Given the description of an element on the screen output the (x, y) to click on. 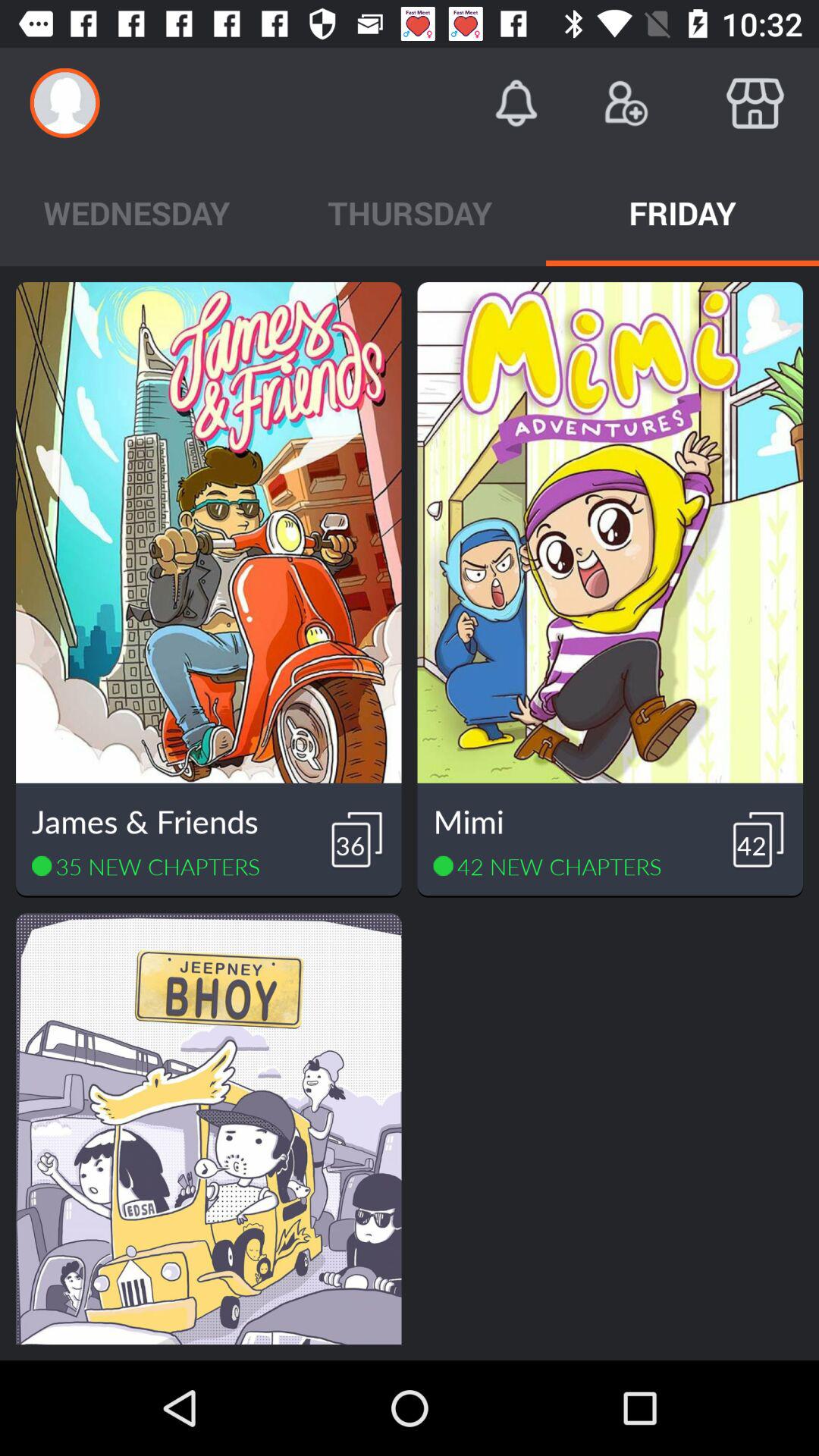
press the item next to wednesday (409, 212)
